Given the description of an element on the screen output the (x, y) to click on. 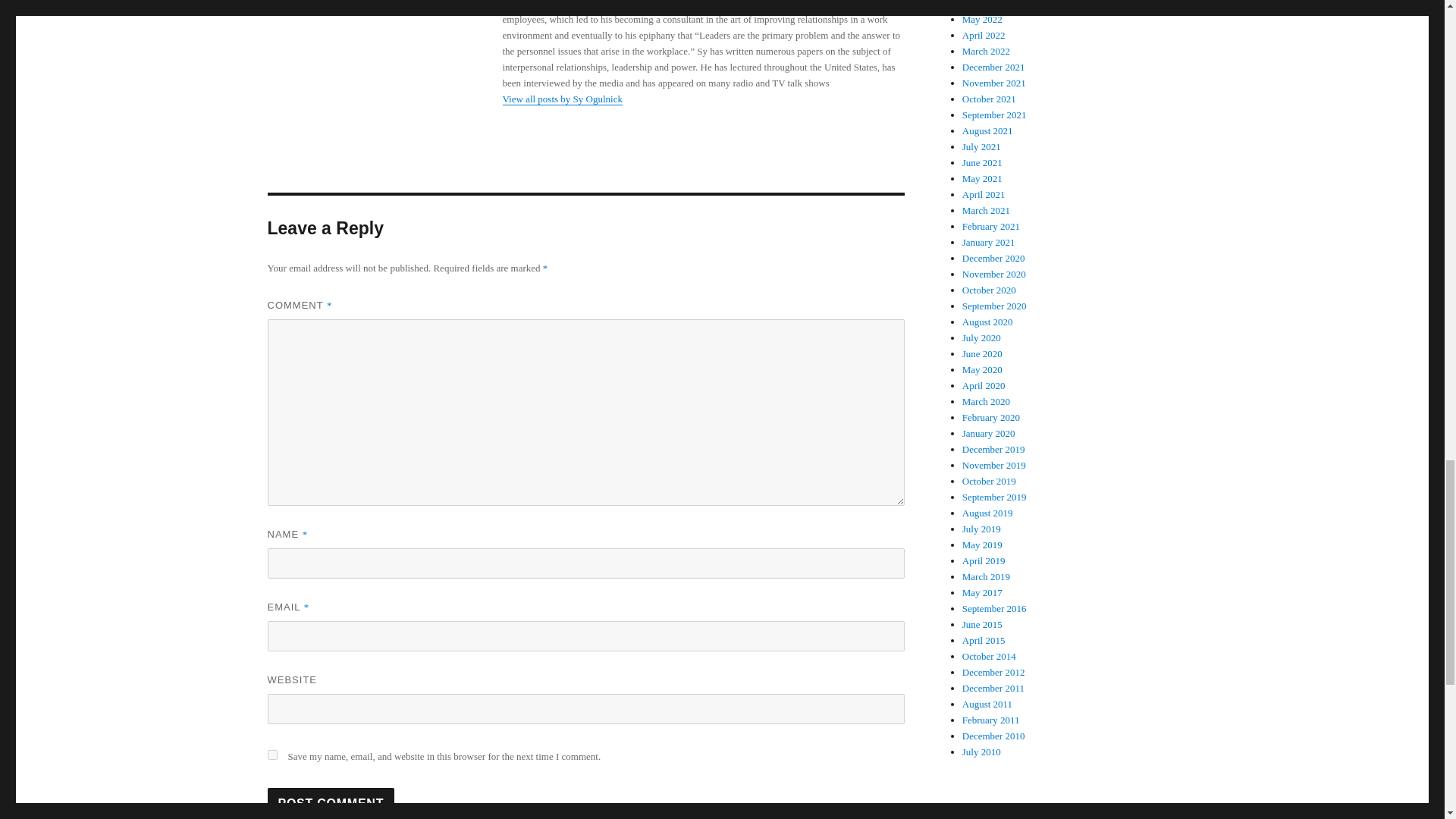
View all posts by Sy Ogulnick (561, 98)
Post Comment (330, 803)
Post Comment (330, 803)
yes (271, 755)
